Given the description of an element on the screen output the (x, y) to click on. 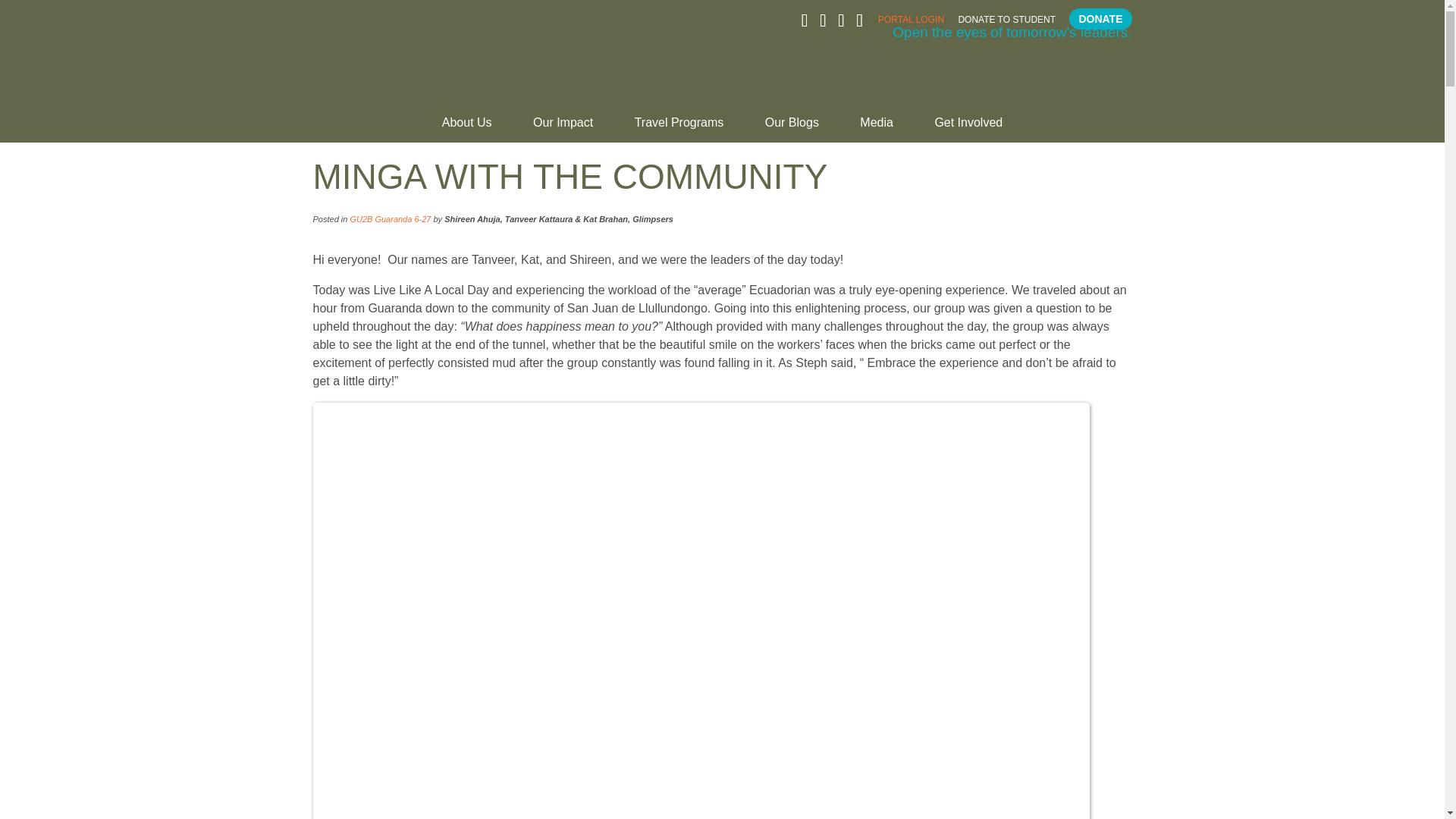
Our Blogs (791, 128)
PORTAL LOGIN (910, 23)
Travel Programs (678, 128)
Media (876, 128)
DONATE TO STUDENT (1006, 23)
Our Impact (562, 128)
About Us (467, 128)
Get Involved (968, 128)
DONATE (1099, 18)
